Given the description of an element on the screen output the (x, y) to click on. 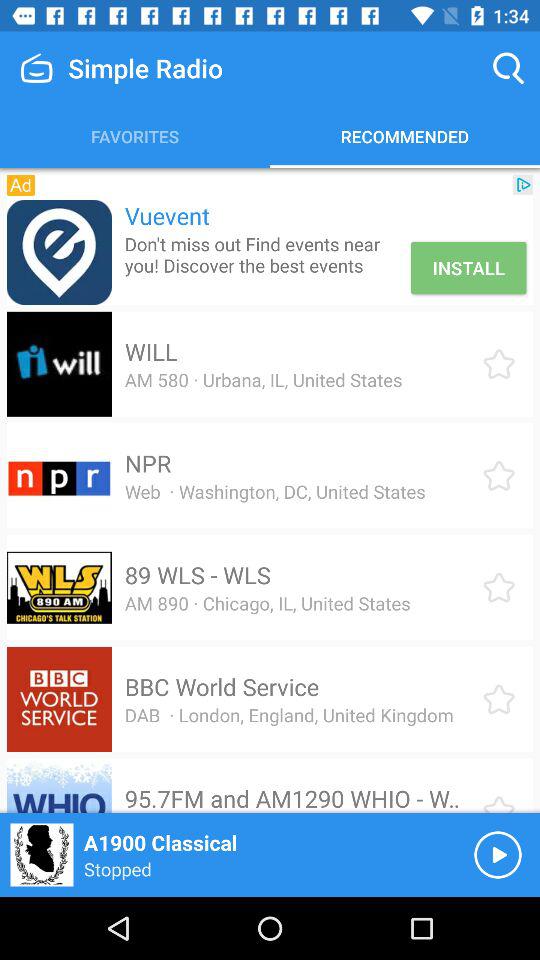
tap the icon below 89 wls - wls item (267, 603)
